Given the description of an element on the screen output the (x, y) to click on. 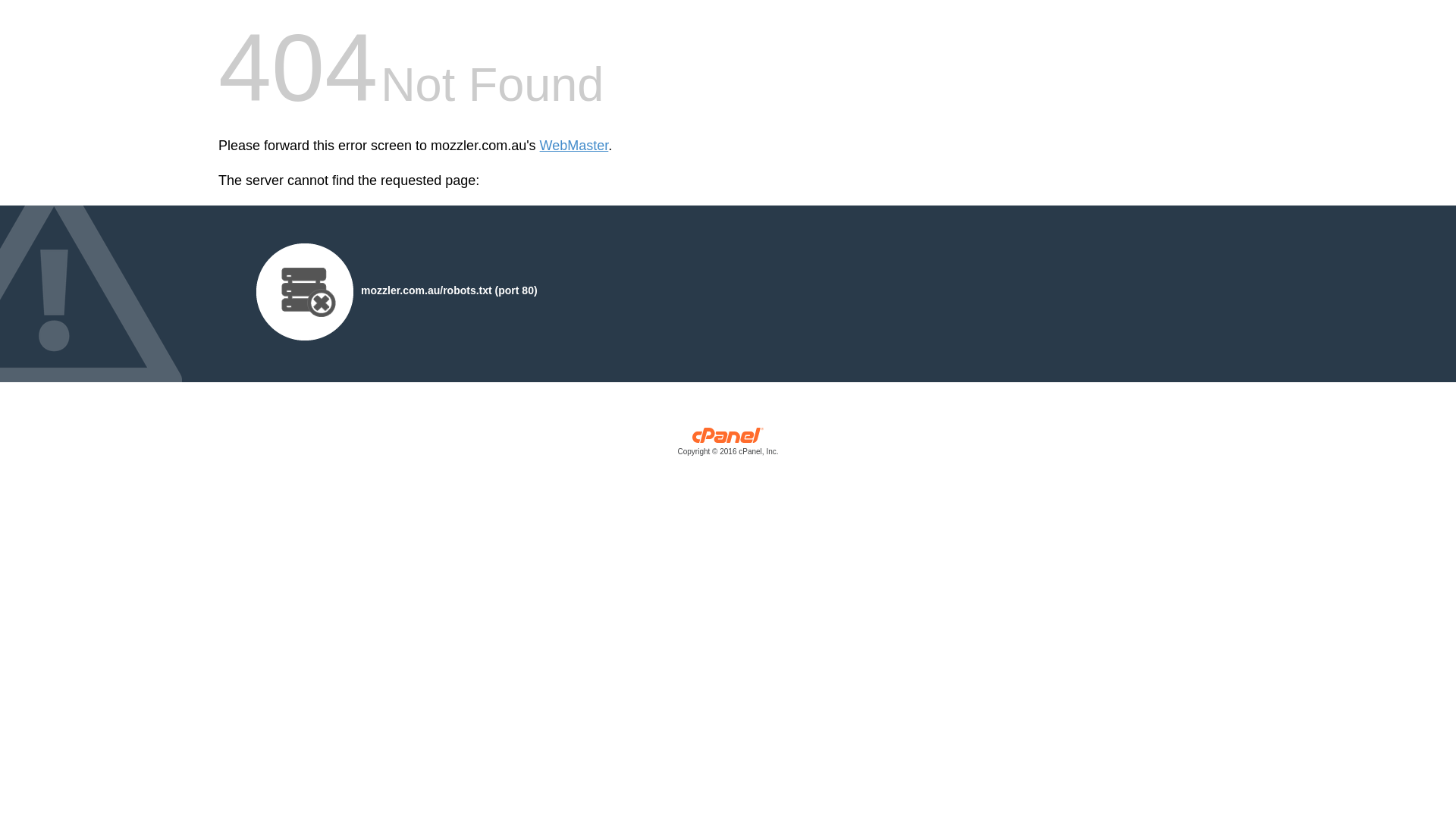
WebMaster Element type: text (573, 145)
